Given the description of an element on the screen output the (x, y) to click on. 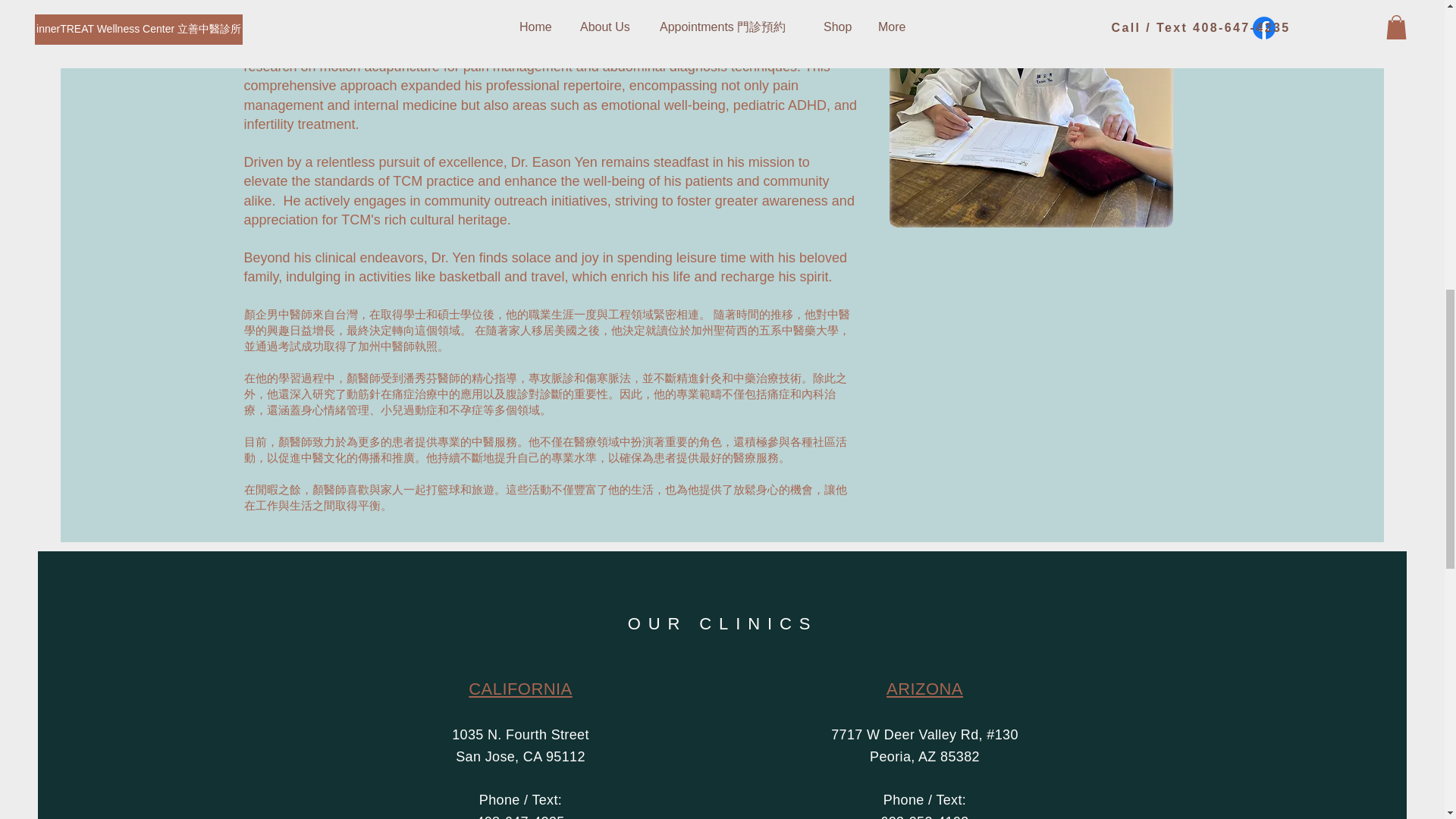
ARIZONA (924, 688)
Zoe02.jpg (1030, 113)
